Given the description of an element on the screen output the (x, y) to click on. 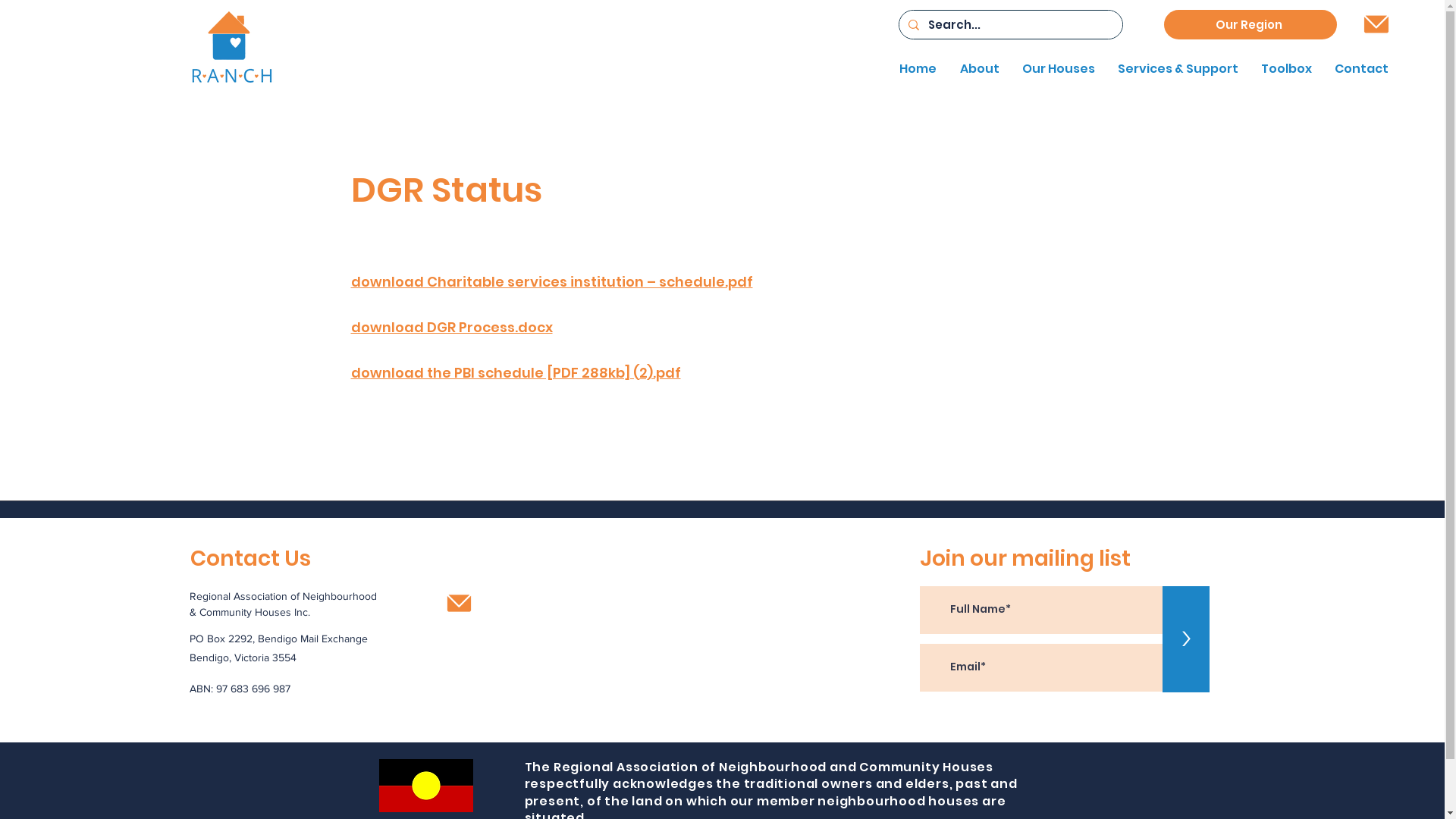
Contact Element type: text (1357, 68)
download DGR Process.docx Element type: text (451, 326)
Home Element type: text (913, 68)
Toolbox Element type: text (1282, 68)
> Element type: text (1185, 639)
Services & Support Element type: text (1173, 68)
Our Region Element type: text (1250, 24)
download the PBI schedule [PDF 288kb] (2).pdf Element type: text (515, 371)
About Element type: text (975, 68)
